Given the description of an element on the screen output the (x, y) to click on. 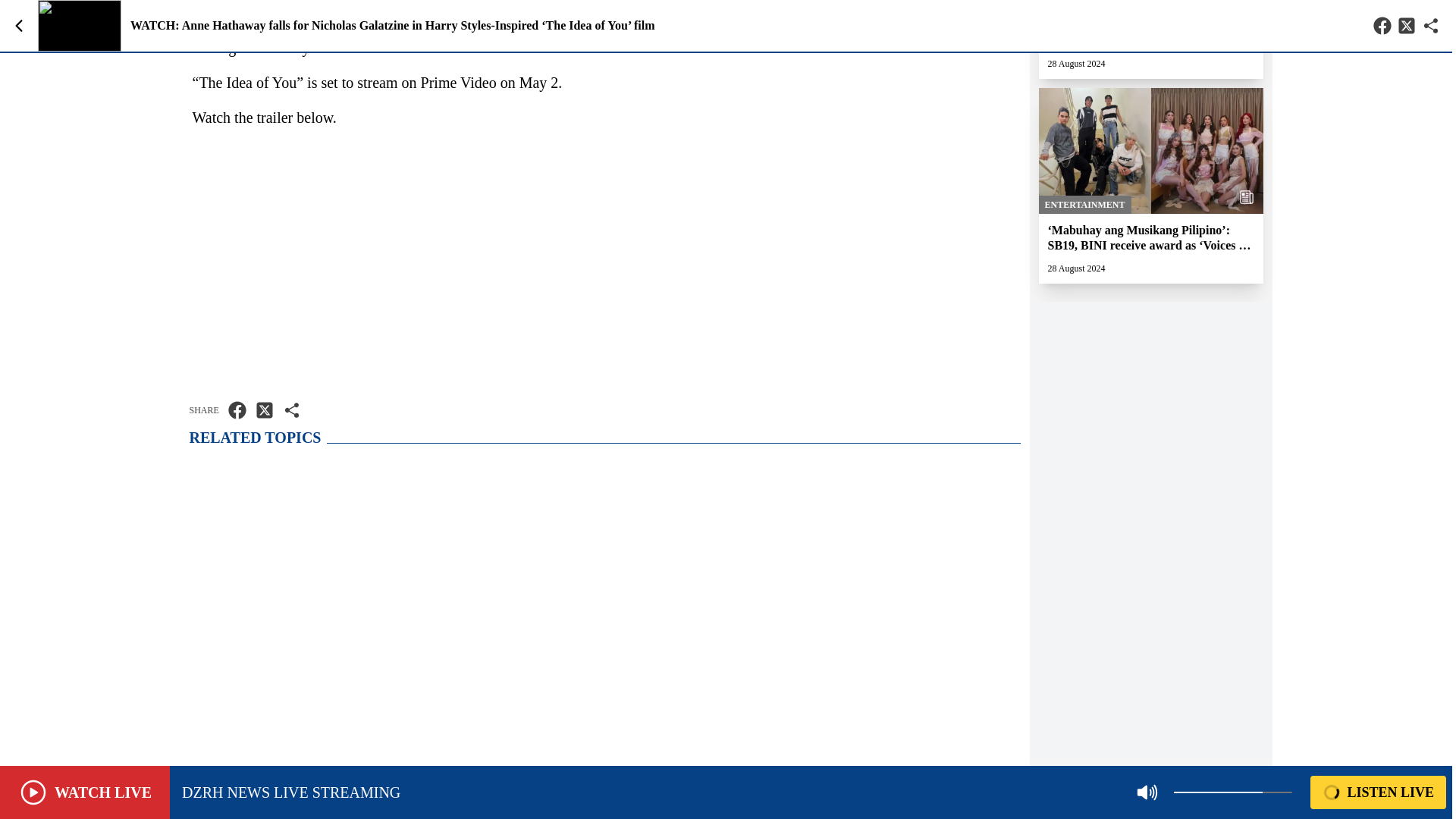
YouTube video player (604, 260)
Vogue (435, 24)
